Given the description of an element on the screen output the (x, y) to click on. 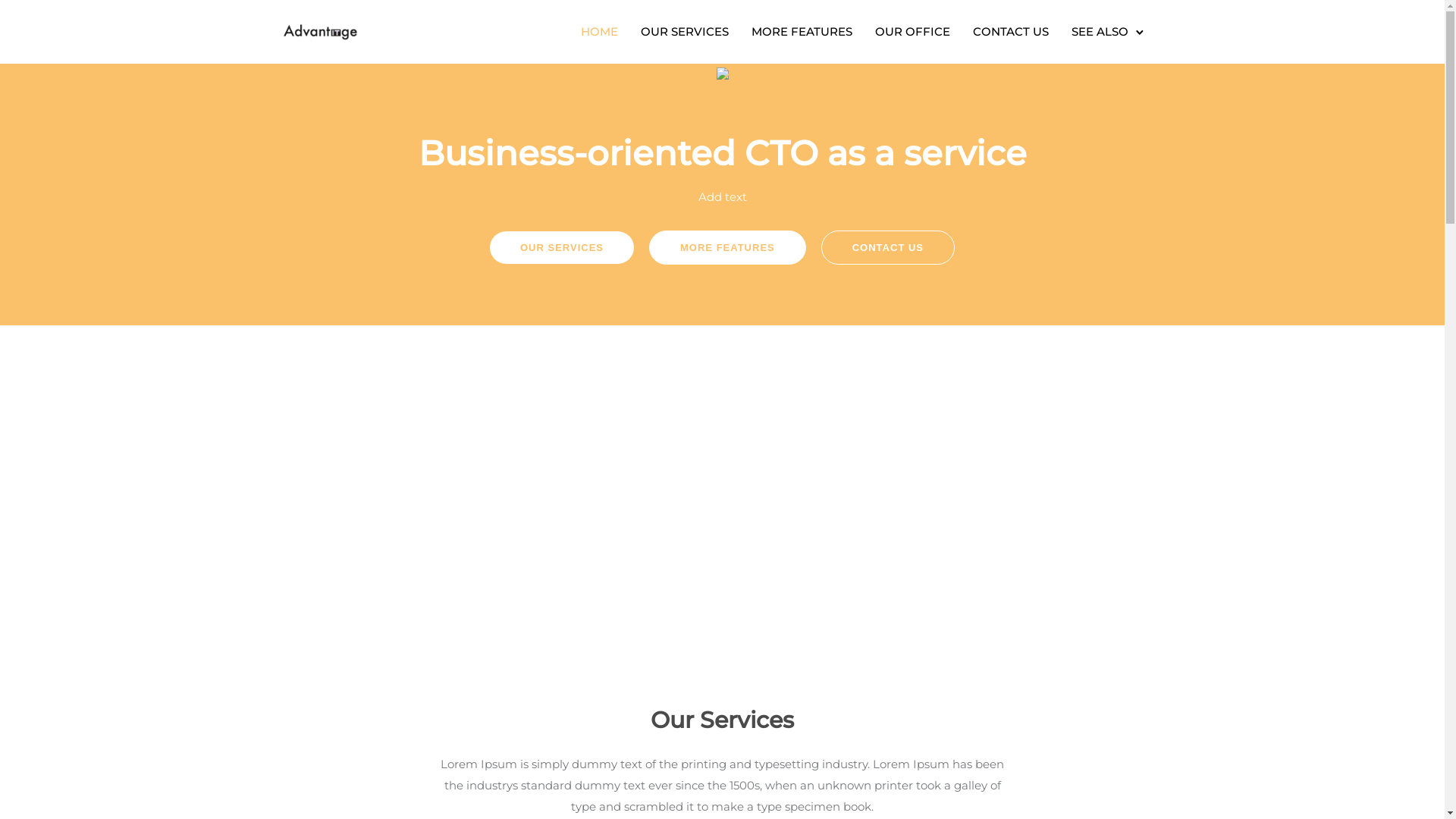
OUR SERVICES Element type: text (561, 247)
OUR OFFICE Element type: text (912, 31)
OUR SERVICES Element type: text (683, 31)
CONTACT US Element type: text (887, 247)
MORE FEATURES Element type: text (801, 31)
MORE FEATURES Element type: text (727, 247)
SEE ALSO Element type: text (1099, 31)
CONTACT US Element type: text (1009, 31)
HOME Element type: text (599, 31)
